Given the description of an element on the screen output the (x, y) to click on. 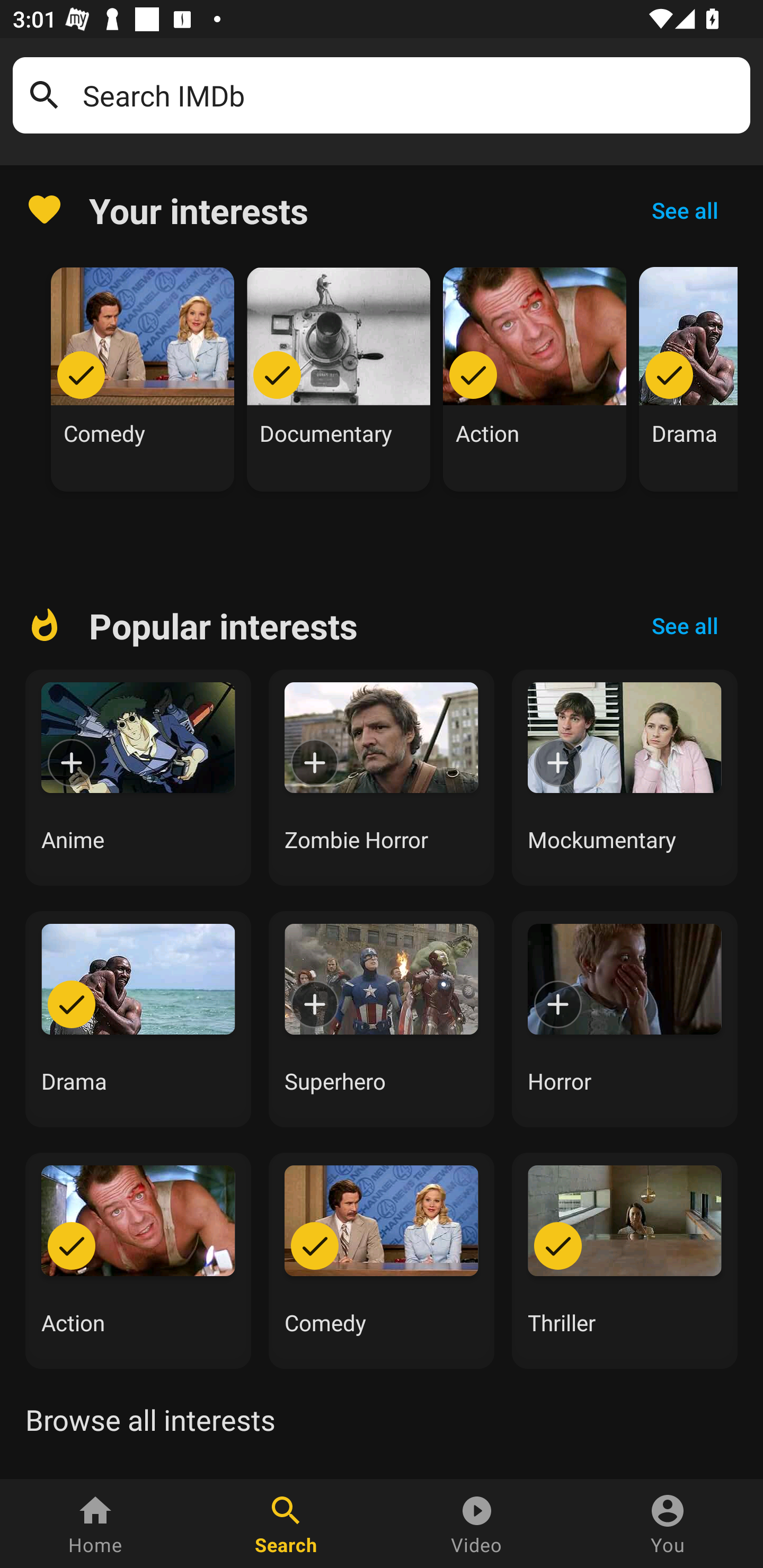
Search IMDb (410, 95)
See all (684, 209)
Comedy (142, 379)
Documentary (338, 379)
Action (534, 379)
Drama (688, 379)
See all (684, 625)
Anime (138, 777)
Zombie Horror (381, 777)
Mockumentary (624, 777)
Drama (138, 1018)
Superhero (381, 1018)
Horror (624, 1018)
Action (138, 1260)
Comedy (381, 1260)
Thriller (624, 1260)
Browse all interests (150, 1419)
Home (95, 1523)
Video (476, 1523)
You (667, 1523)
